Given the description of an element on the screen output the (x, y) to click on. 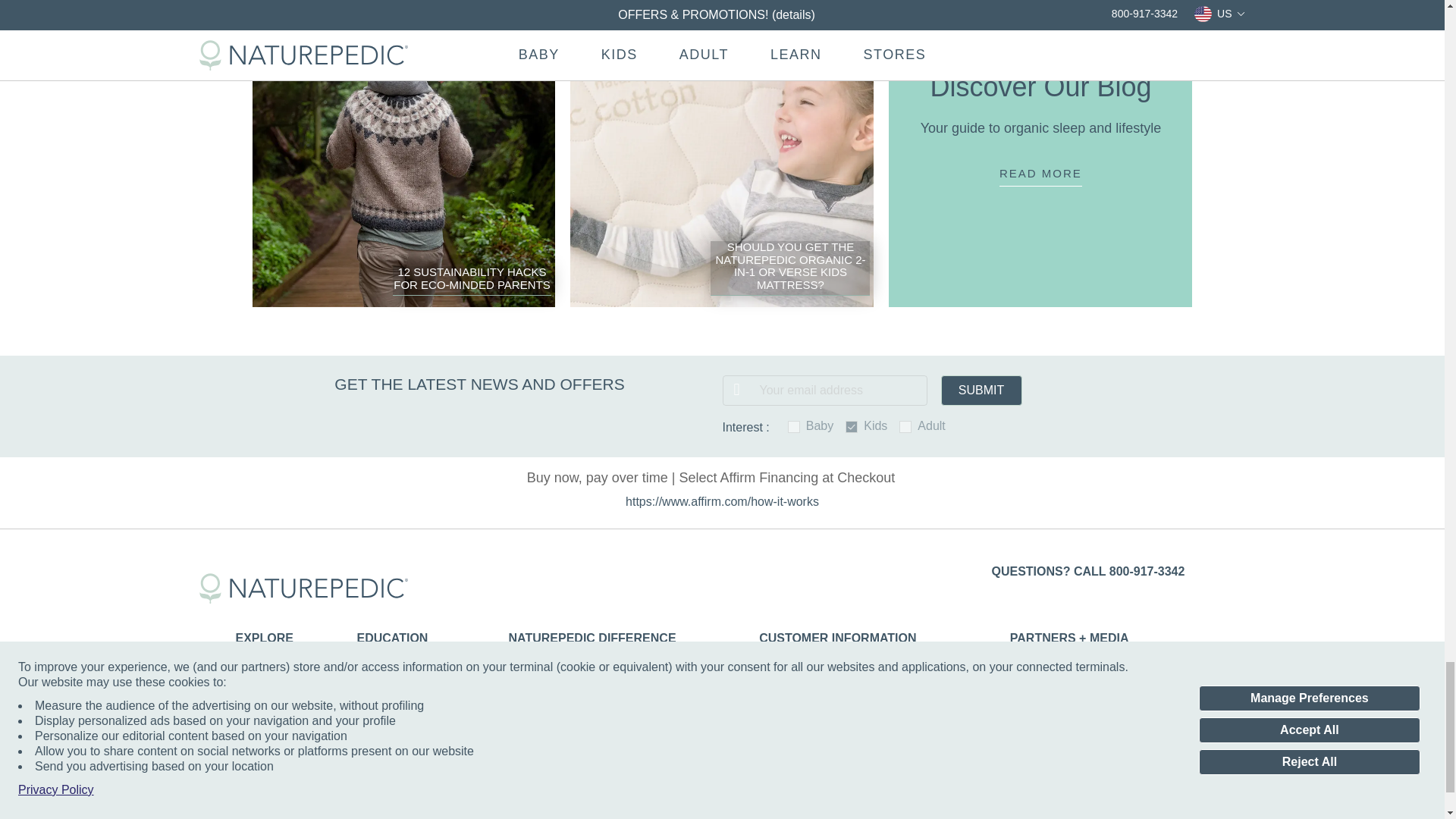
on (793, 426)
on (905, 426)
on (851, 426)
